Given the description of an element on the screen output the (x, y) to click on. 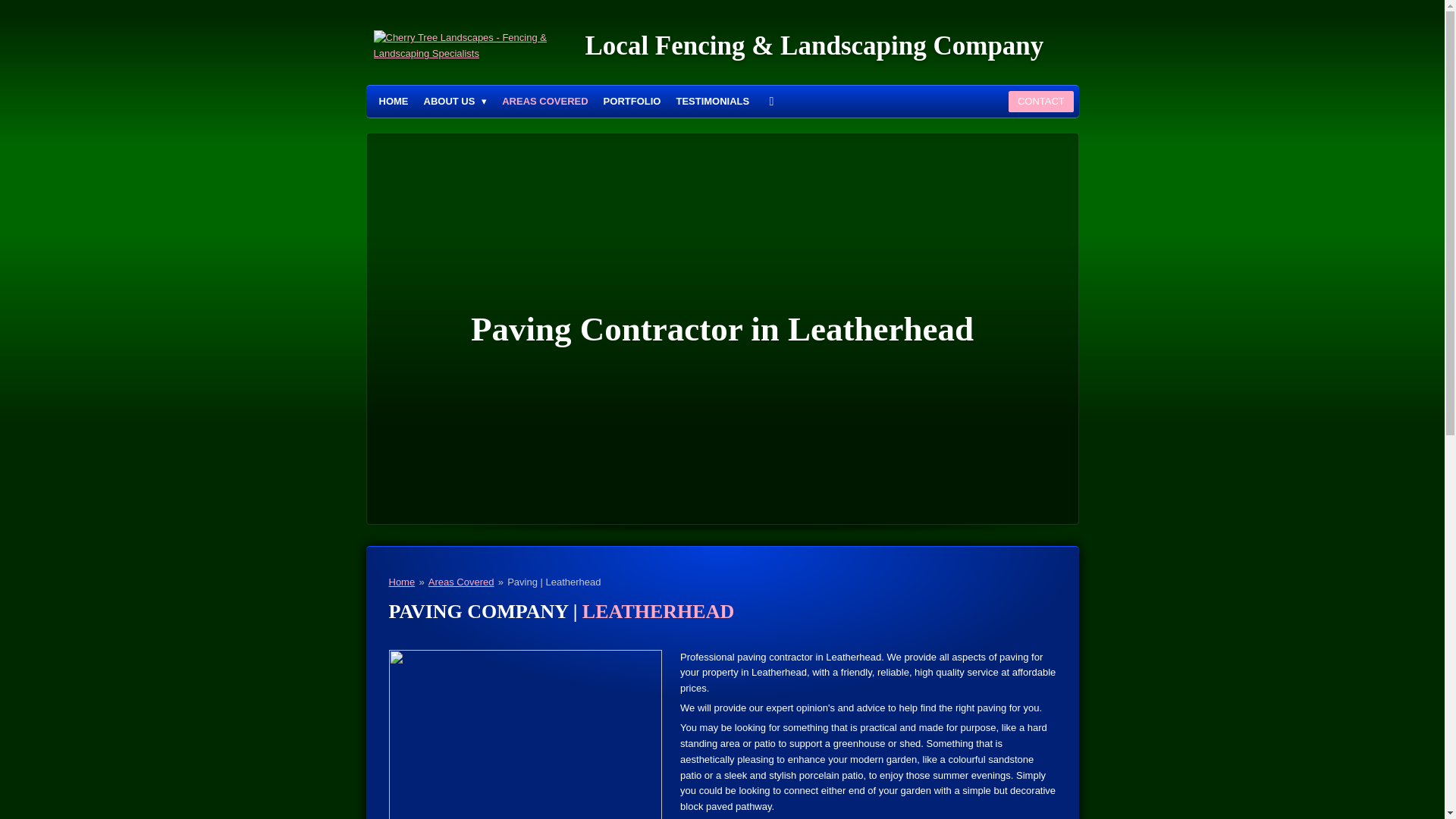
Areas Covered (461, 582)
TESTIMONIALS (712, 101)
CONTACT (1041, 101)
Home (401, 582)
Search (771, 101)
AREAS COVERED (545, 101)
PORTFOLIO (631, 101)
HOME (393, 101)
ABOUT US (454, 101)
Contact (1041, 101)
